Given the description of an element on the screen output the (x, y) to click on. 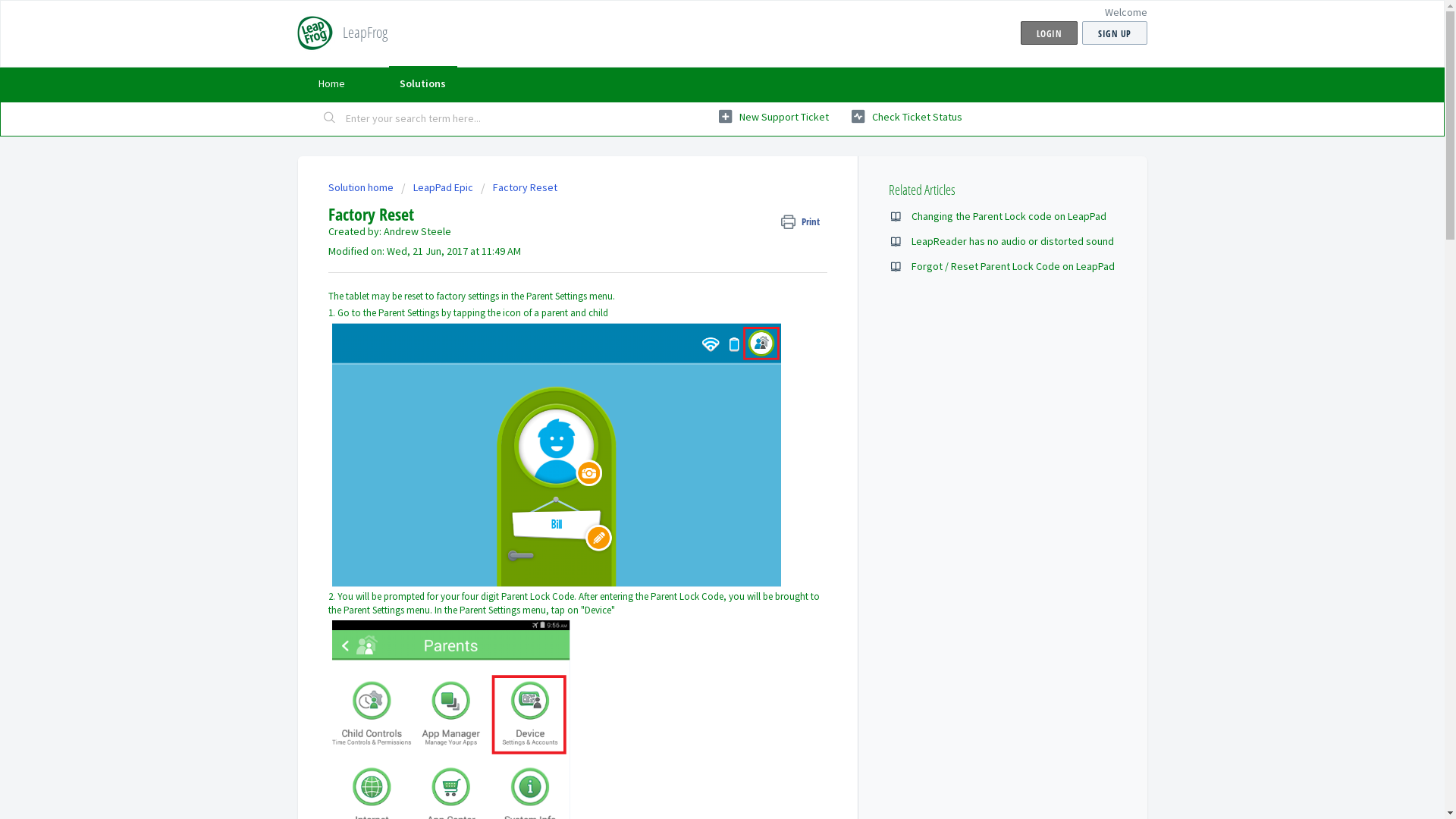
Check Ticket Status Element type: text (905, 116)
Factory Reset Element type: text (518, 187)
SIGN UP Element type: text (1114, 32)
LeapPad Epic Element type: text (436, 187)
LeapReader has no audio or distorted sound Element type: text (1012, 240)
Home Element type: text (331, 83)
Solution home Element type: text (361, 187)
LOGIN Element type: text (1049, 32)
New Support Ticket Element type: text (773, 116)
Solutions Element type: text (422, 83)
Changing the Parent Lock code on LeapPad Element type: text (1008, 215)
Print Element type: text (804, 221)
Forgot / Reset Parent Lock Code on LeapPad Element type: text (1012, 266)
